Given the description of an element on the screen output the (x, y) to click on. 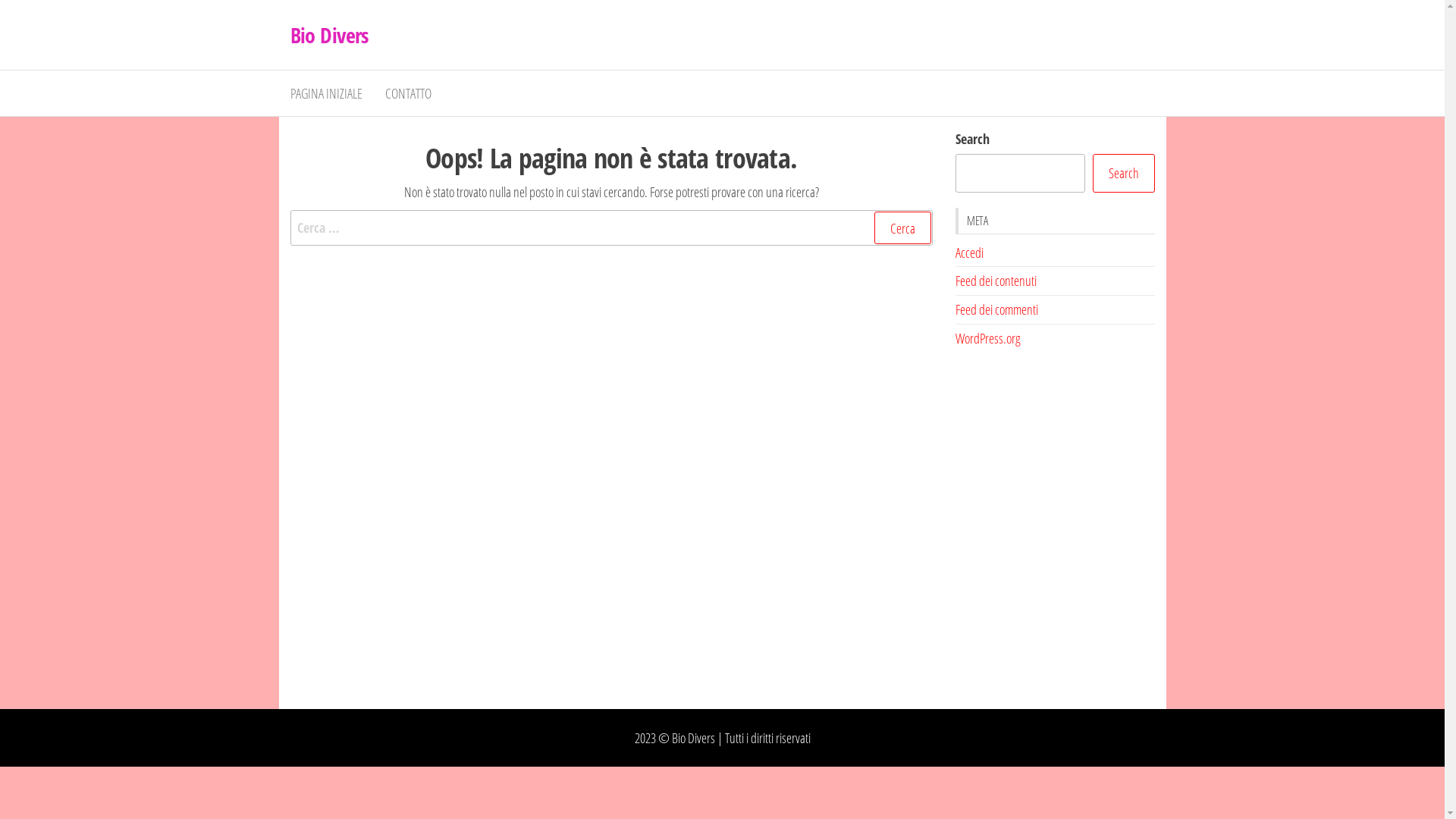
Feed dei contenuti Element type: text (995, 280)
CONTATTO Element type: text (407, 93)
Accedi Element type: text (969, 252)
Cerca Element type: text (902, 227)
Search Element type: text (1123, 172)
Feed dei commenti Element type: text (996, 309)
PAGINA INIZIALE Element type: text (326, 93)
5 COSE CHE NON SAI: Cosa piace alle donne? Element type: hover (1054, 527)
Bio Divers Element type: text (328, 34)
WordPress.org Element type: text (987, 338)
